Given the description of an element on the screen output the (x, y) to click on. 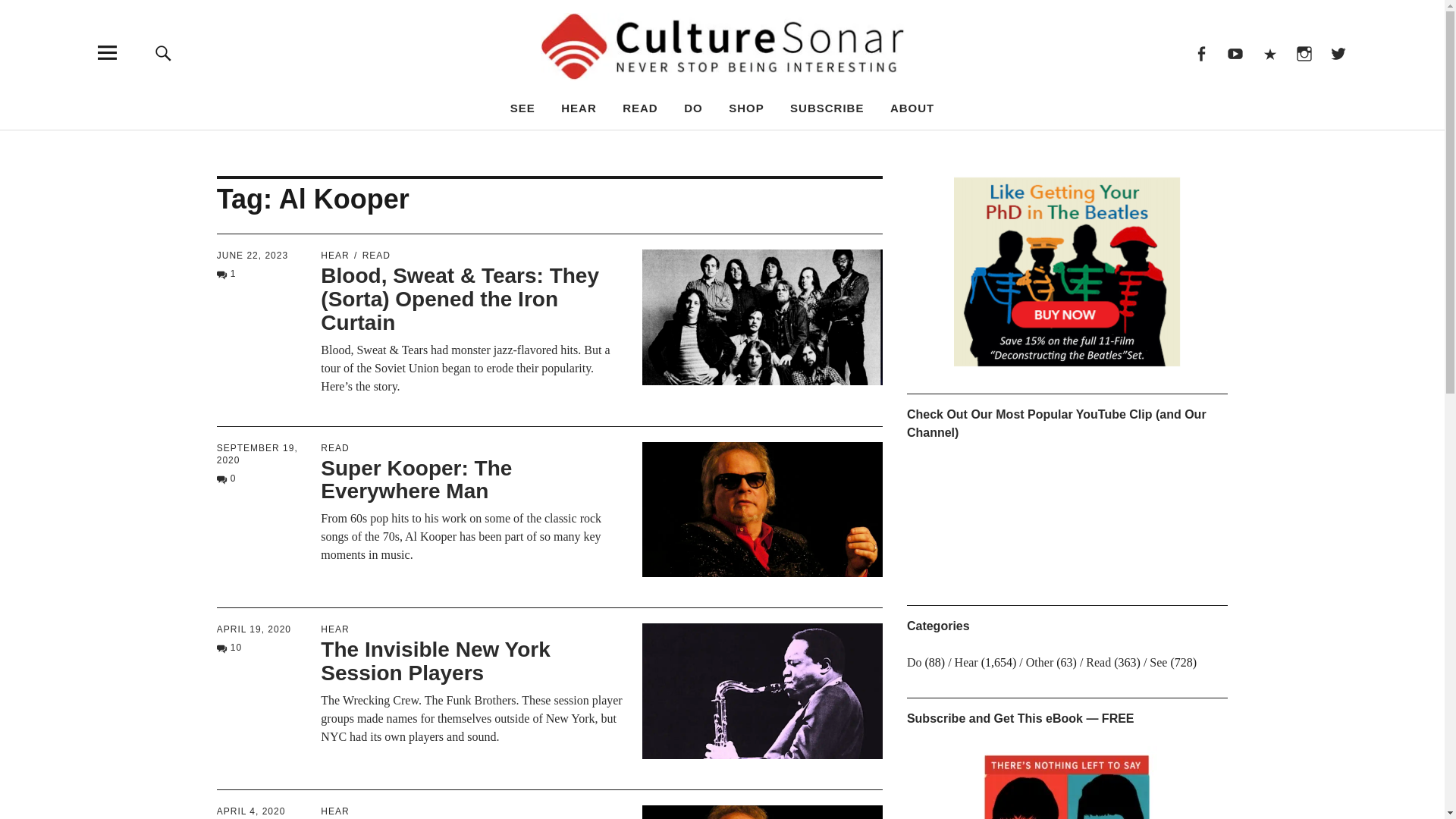
HEAR (578, 107)
YouTube video player (1021, 517)
READ (640, 107)
SUBSCRIBE (826, 107)
ABOUT (911, 107)
Search (965, 144)
Facebook (1200, 52)
YouTube (1235, 52)
SEE (523, 107)
TikTok (1269, 52)
DO (693, 107)
Instagram (1303, 52)
SHOP (746, 107)
Twitter (1338, 52)
